Given the description of an element on the screen output the (x, y) to click on. 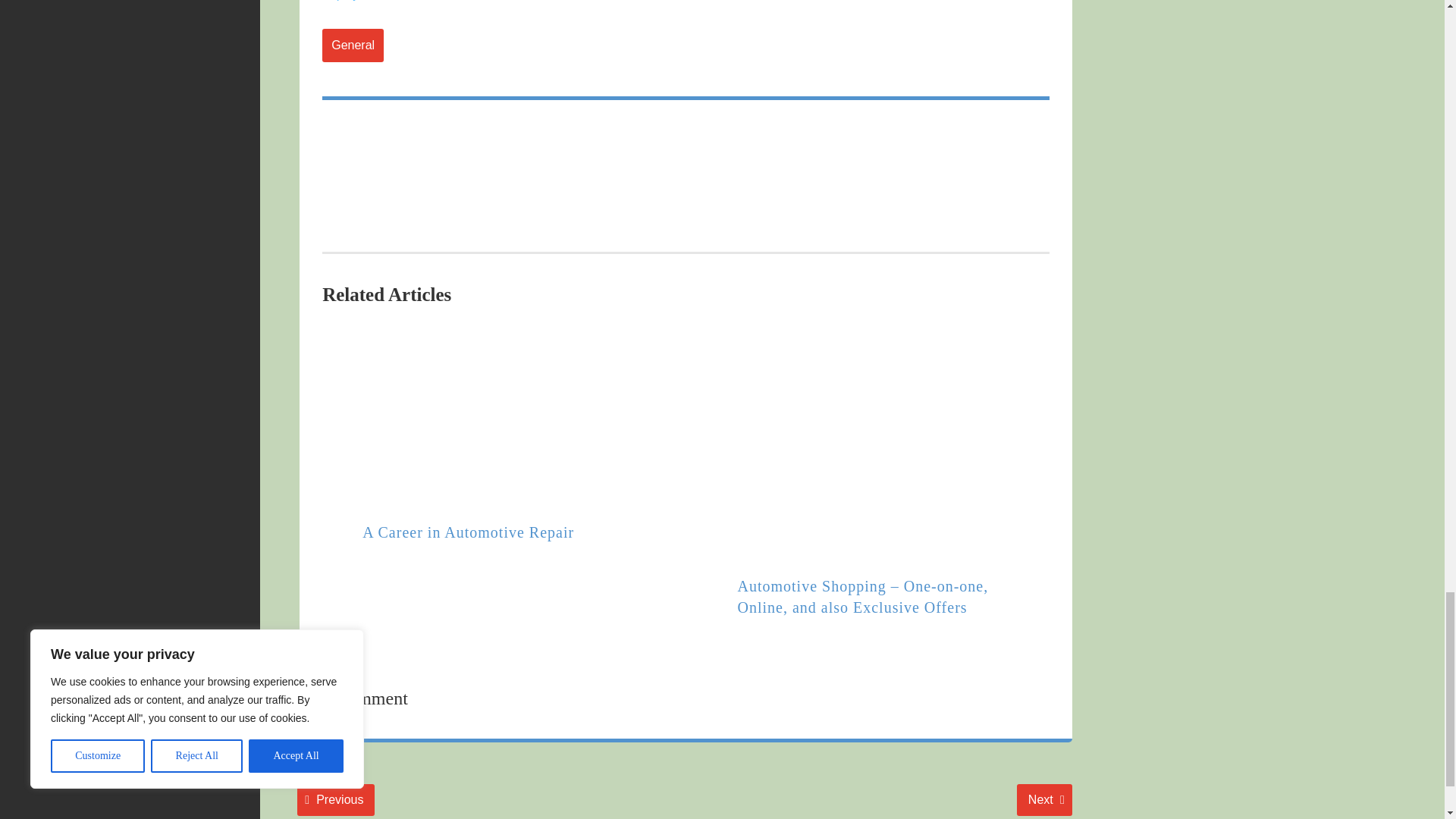
A Career in Automotive Repair (467, 532)
General (335, 799)
Inquiry (352, 45)
